Given the description of an element on the screen output the (x, y) to click on. 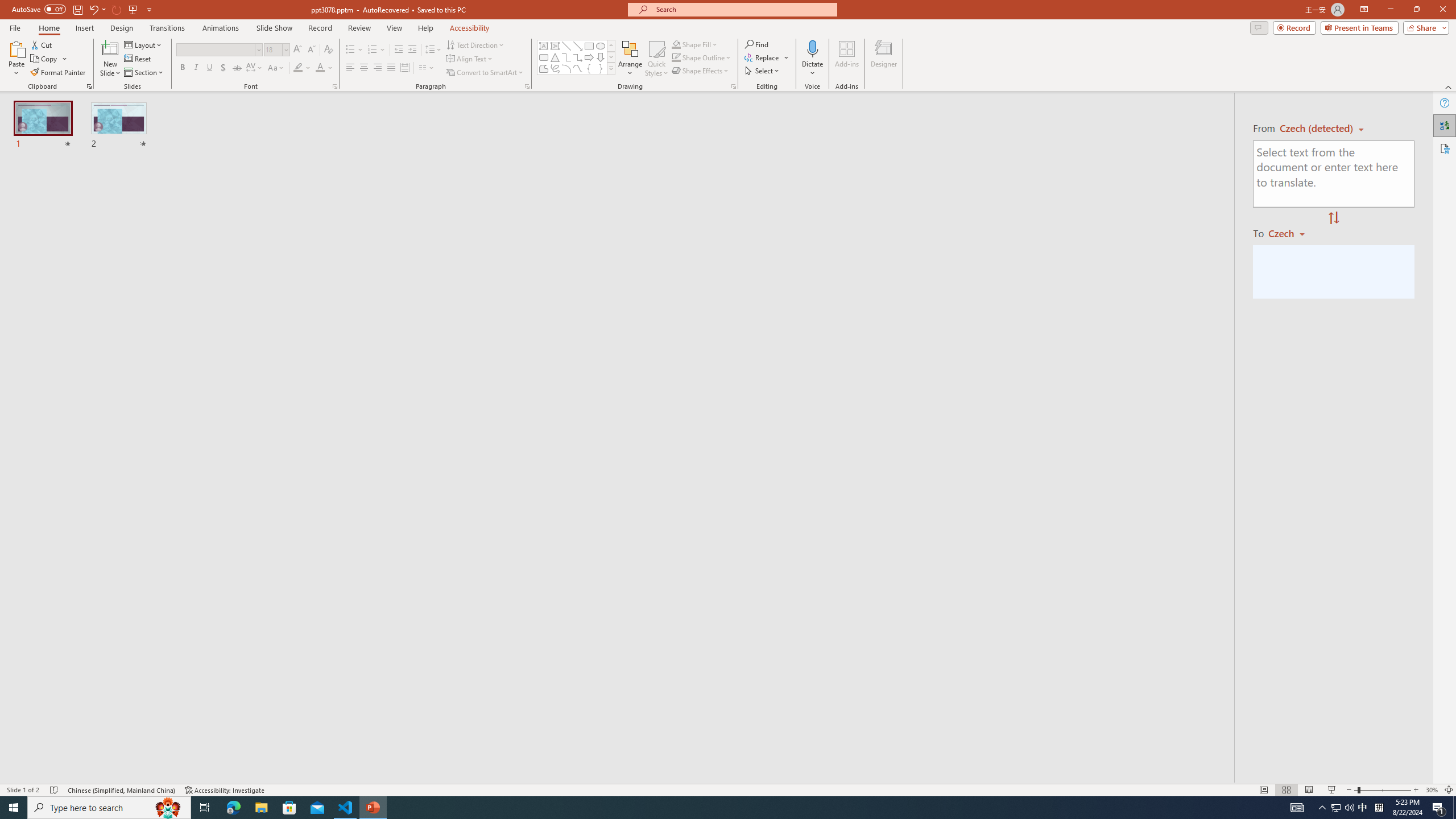
Notebook (370, 114)
Forwarded Ports: 36301, 47065, 38781, 45817, 50331 (175, 766)
Maximize Panel Size (1005, 533)
Explorer (Ctrl+Shift+E) (76, 221)
Explorer Section: workspace (188, 209)
wangyian_dsw - DSW (23, 183)
